Given the description of an element on the screen output the (x, y) to click on. 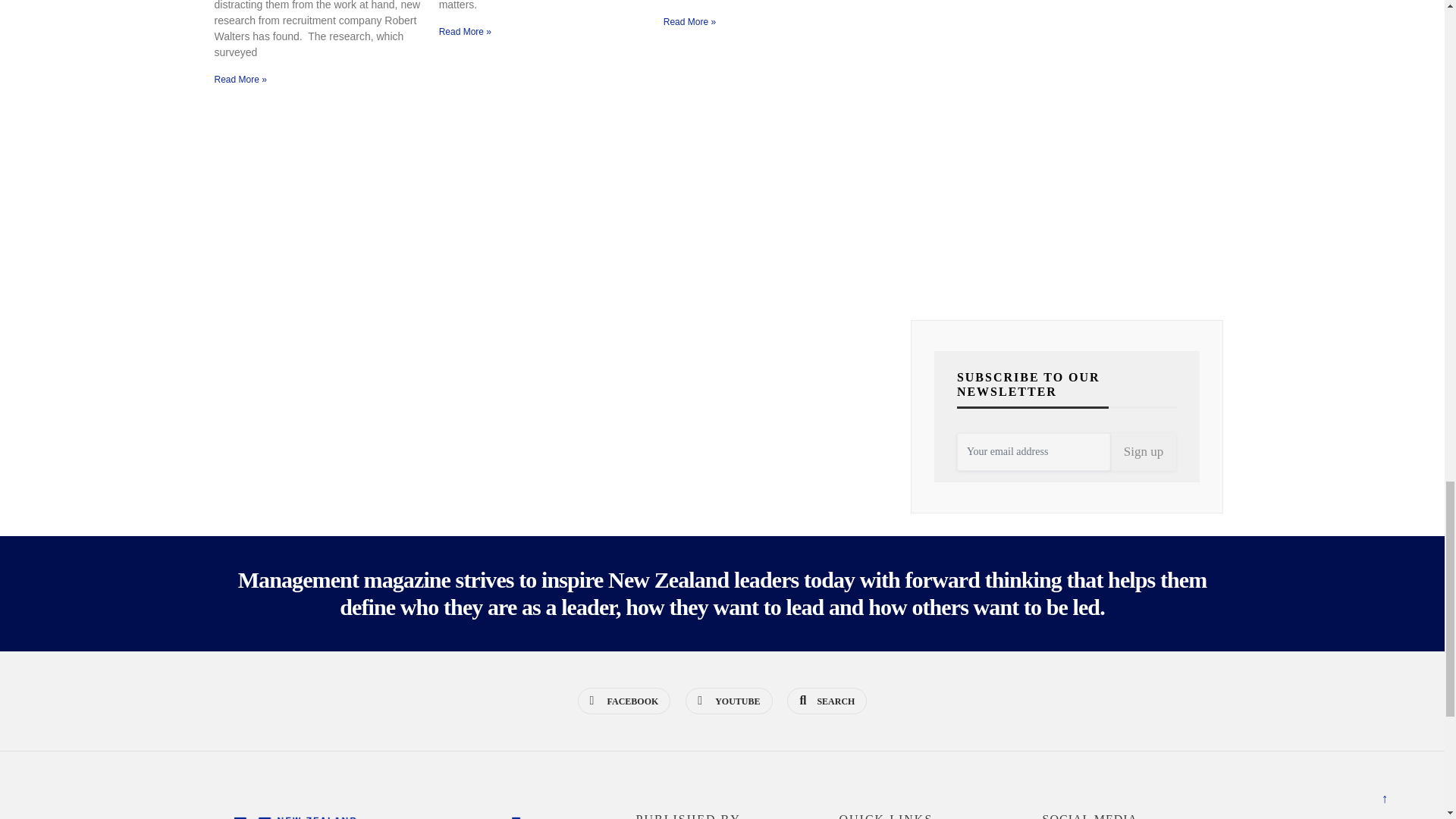
Sign up (1143, 451)
